Given the description of an element on the screen output the (x, y) to click on. 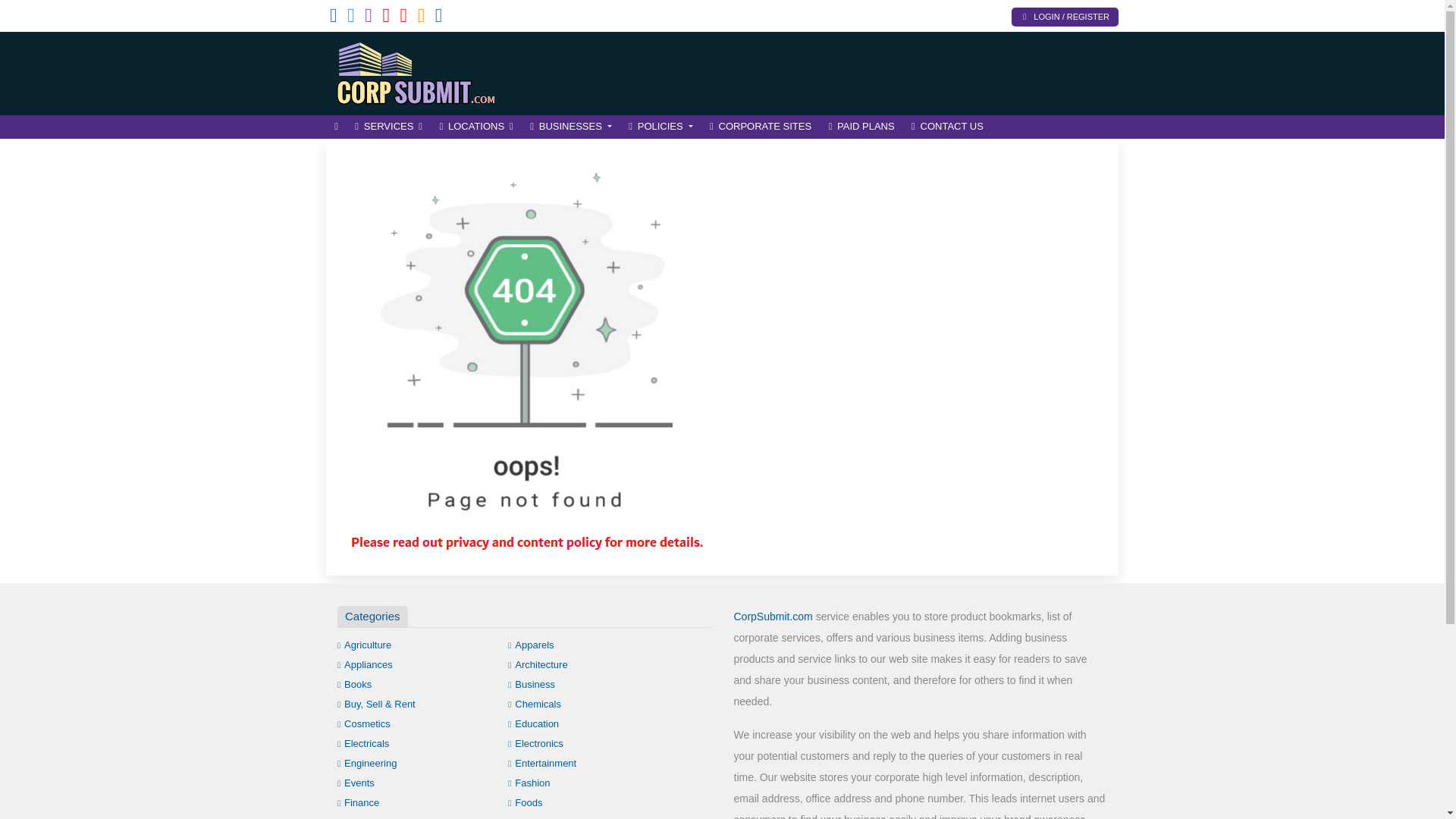
SERVICES (388, 126)
Corporate Bookmarking Service for Website Visitors Traffic (428, 71)
LOCATIONS (475, 126)
